Given the description of an element on the screen output the (x, y) to click on. 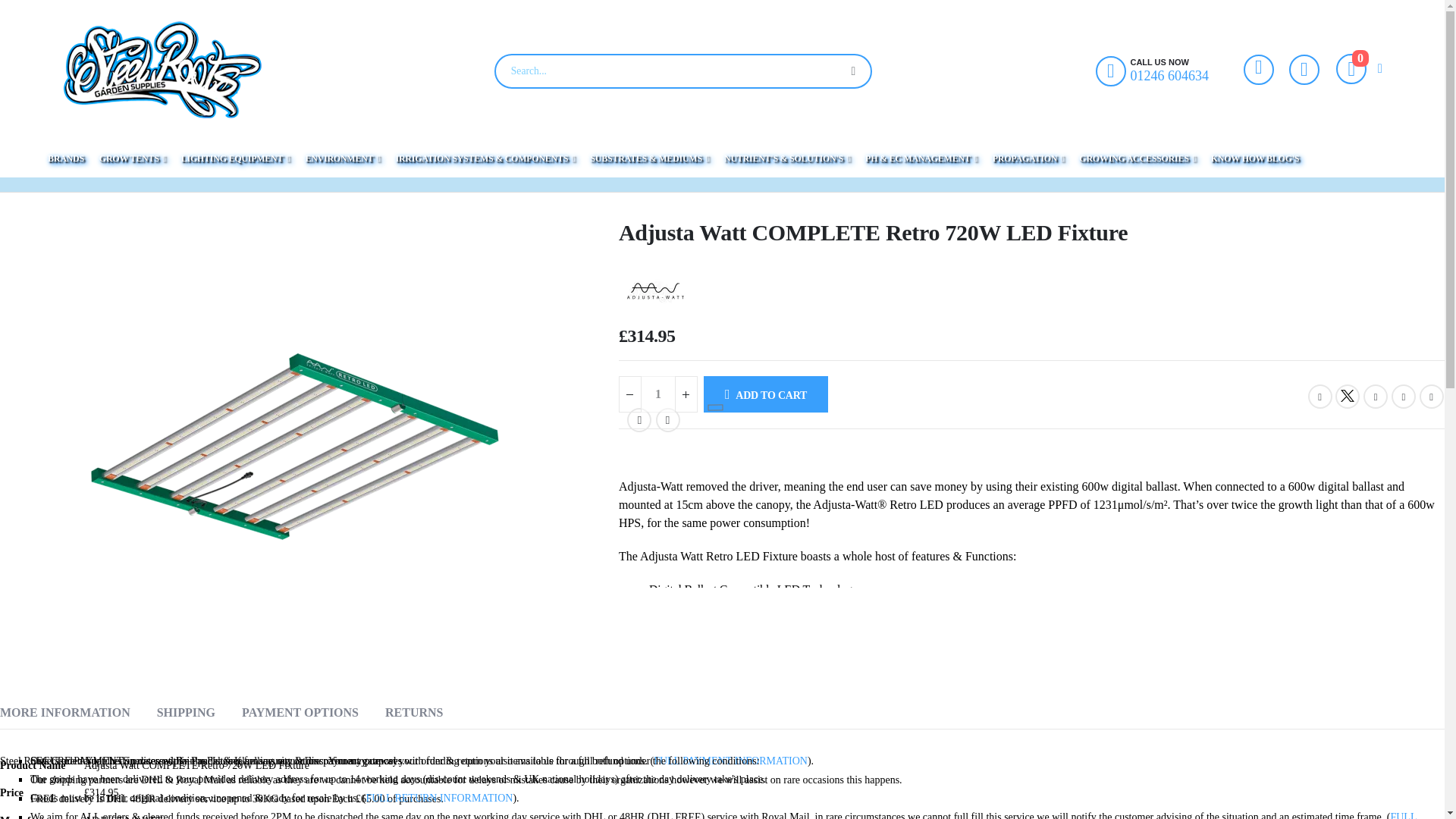
Steel Roots Garden Supplies (162, 69)
My Account (1258, 69)
1 (658, 393)
LIGHTING EQUIPMENT (235, 158)
GROW TENTS (132, 158)
Grow Tents (132, 158)
BRANDS (1358, 69)
Lighting Equipment (66, 158)
Search (235, 158)
